Given the description of an element on the screen output the (x, y) to click on. 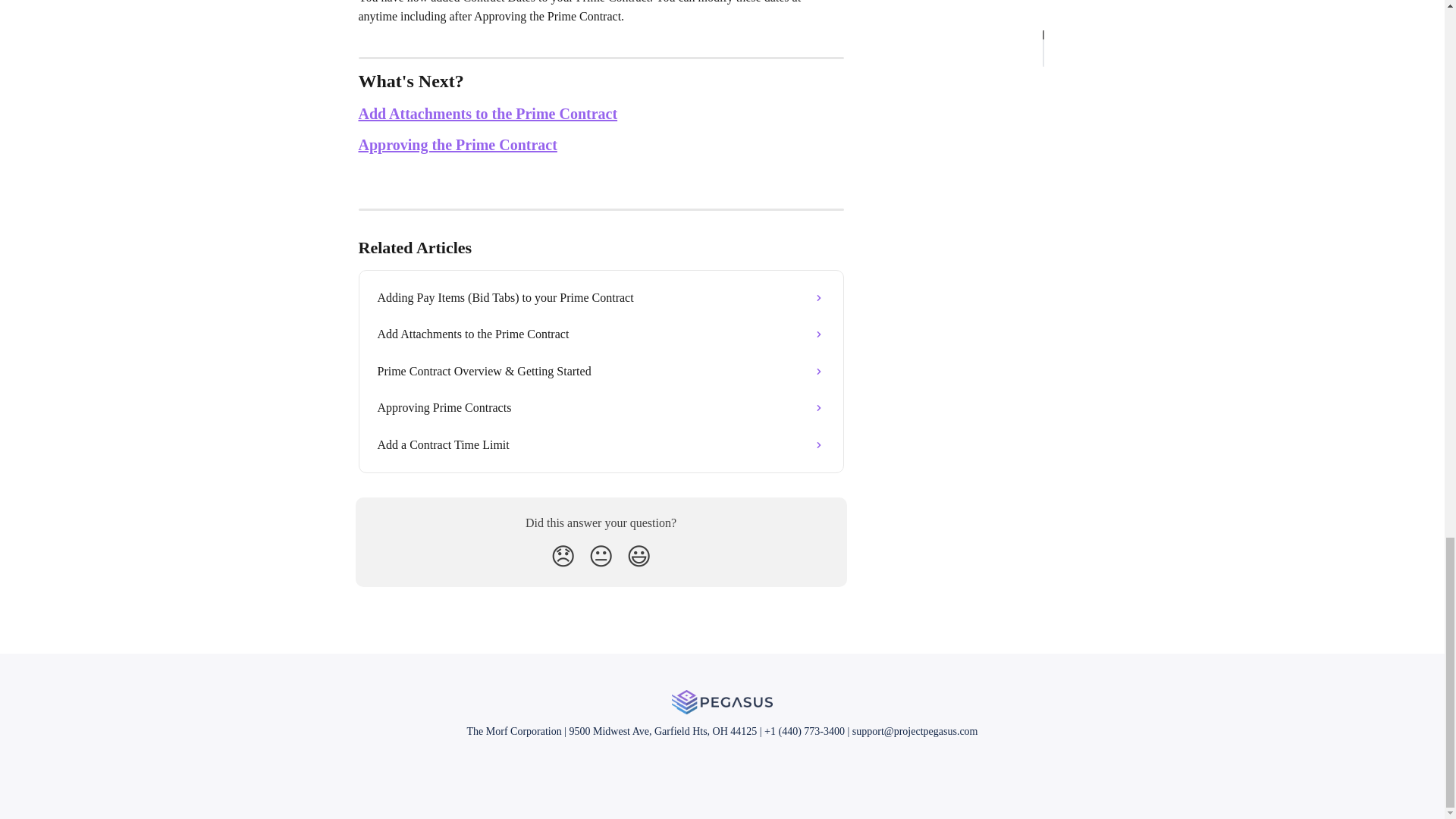
Approving Prime Contracts (601, 407)
Add a Contract Time Limit (601, 444)
Add Attachments to the Prime Contract (487, 113)
Smiley (638, 556)
Disappointed (562, 556)
Add Attachments to the Prime Contract (601, 334)
Approving the Prime Contract (457, 144)
Neutral (600, 556)
